Given the description of an element on the screen output the (x, y) to click on. 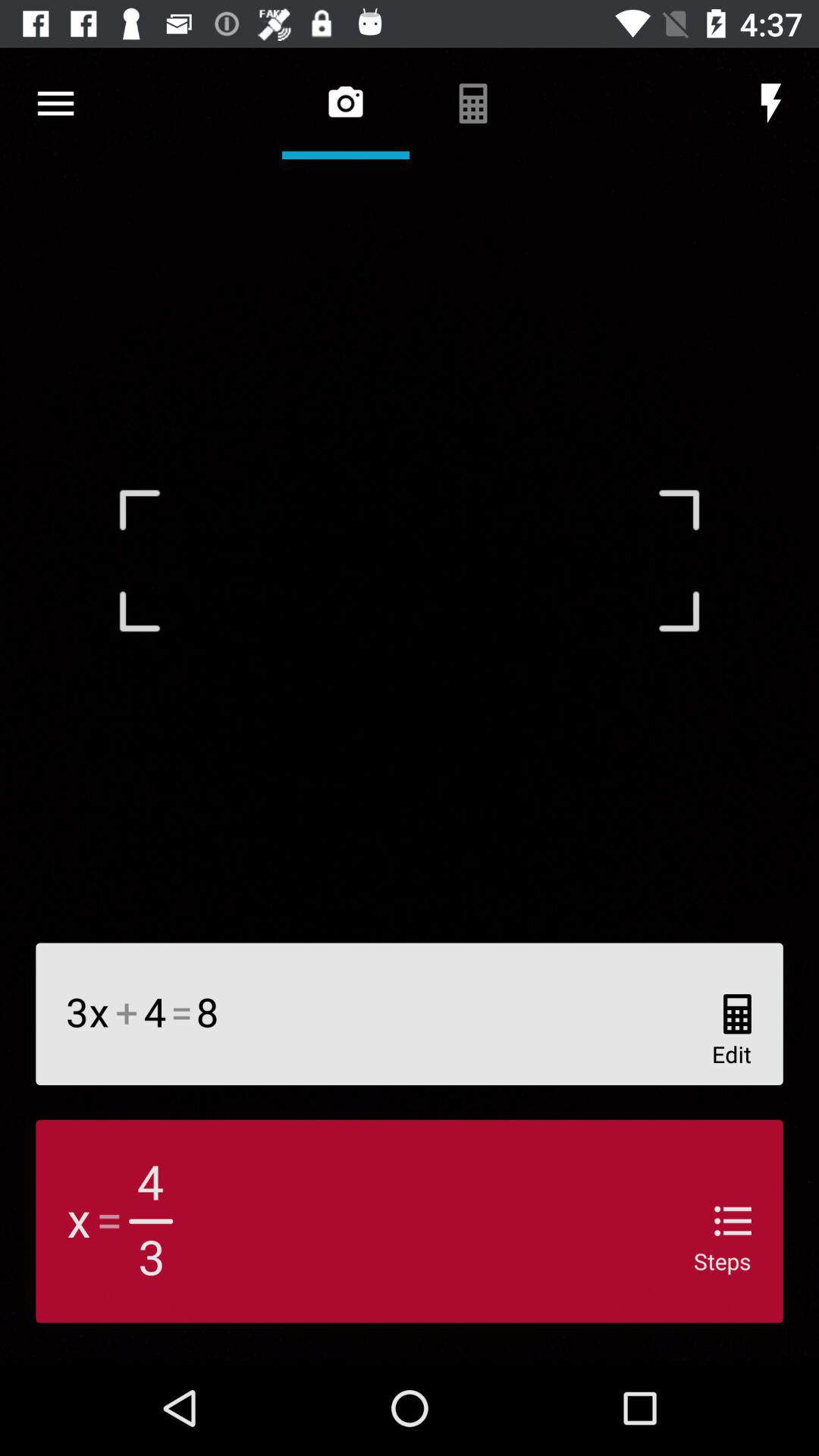
tap the icon at the top right corner (771, 103)
